Given the description of an element on the screen output the (x, y) to click on. 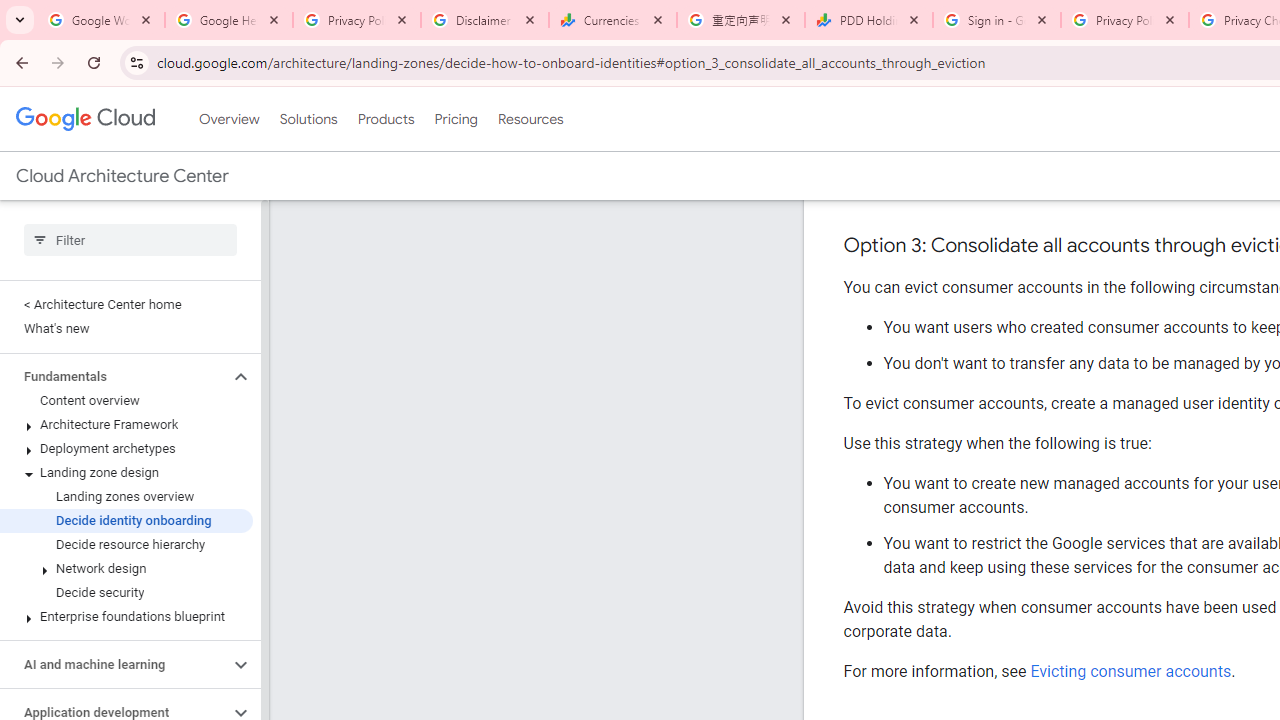
Solutions (308, 119)
Google Workspace Admin Community (101, 20)
What's new (126, 328)
Migrating consumer accounts (1136, 187)
Currencies - Google Finance (613, 20)
Overview (228, 119)
Pricing (455, 119)
Content overview (126, 400)
Decide identity onboarding (126, 520)
PDD Holdings Inc - ADR (PDD) Price & News - Google Finance (869, 20)
